Given the description of an element on the screen output the (x, y) to click on. 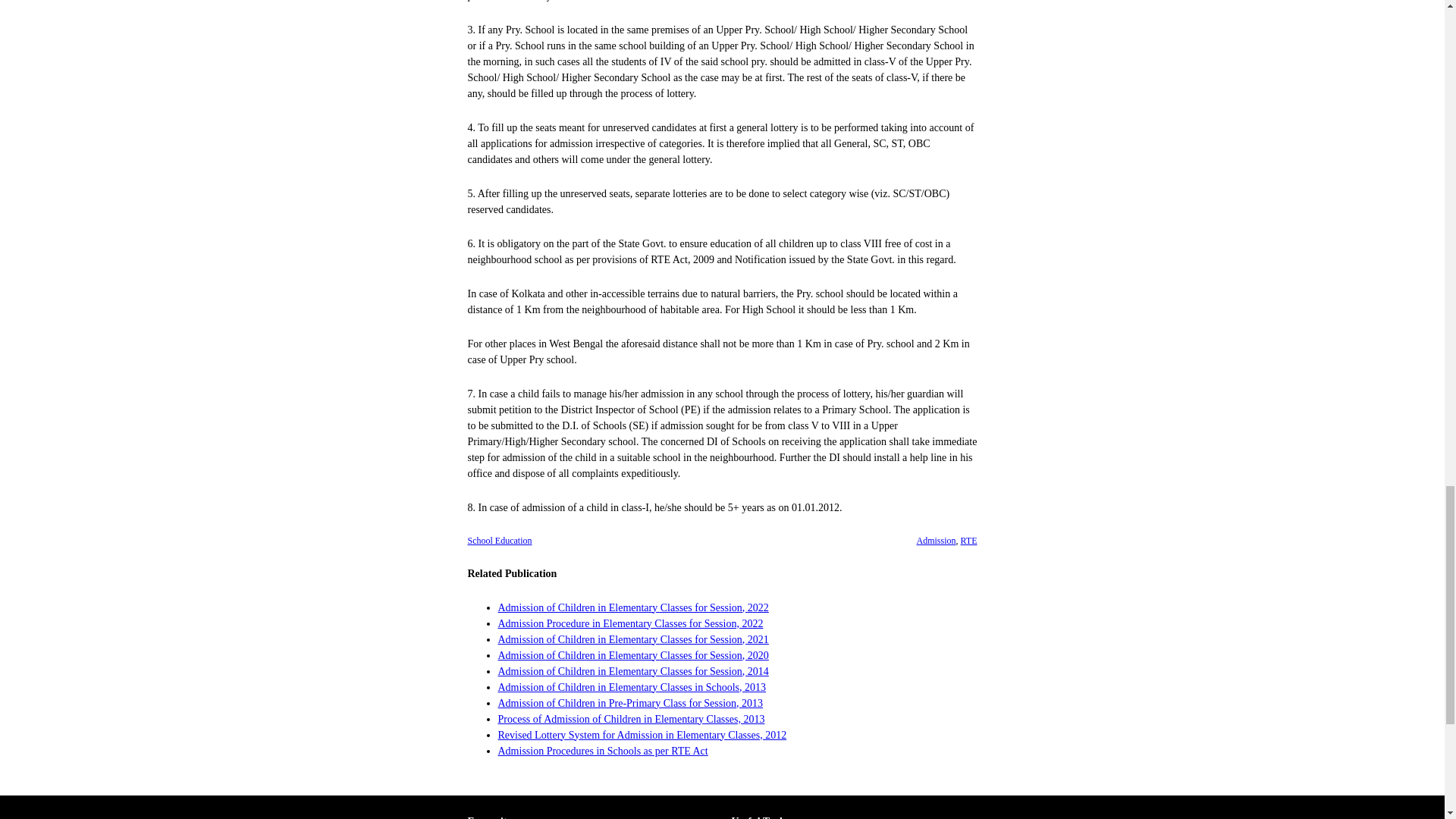
Admission of Children in Pre-Primary Class for Session, 2013 (629, 703)
School Education (499, 540)
Admission Procedures in Schools as per RTE Act (602, 749)
Admission of Children in Elementary Classes in Schools, 2013 (631, 686)
Process of Admission of Children in Elementary Classes, 2013 (630, 717)
